Given the description of an element on the screen output the (x, y) to click on. 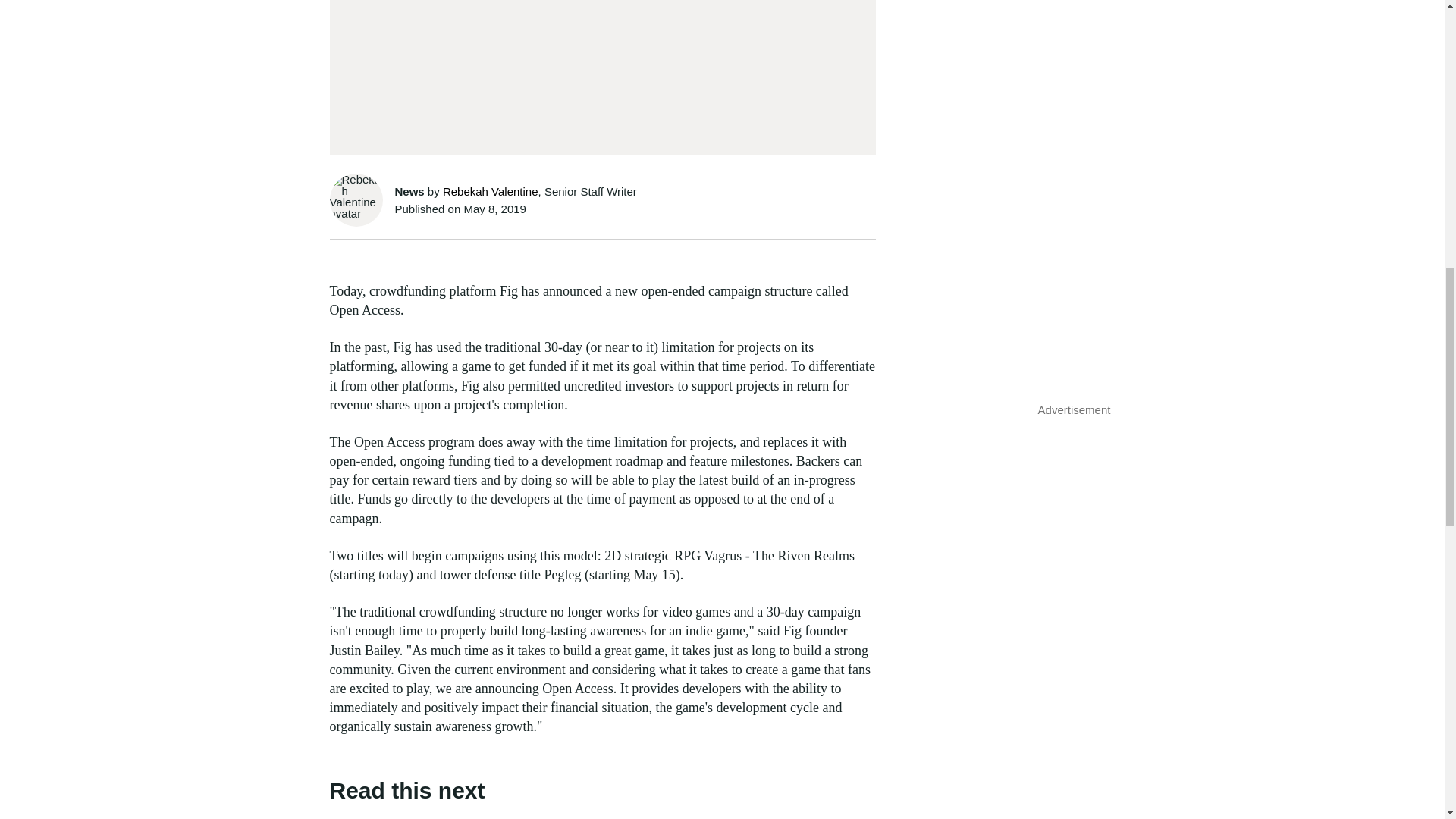
Rebekah Valentine (490, 191)
